Given the description of an element on the screen output the (x, y) to click on. 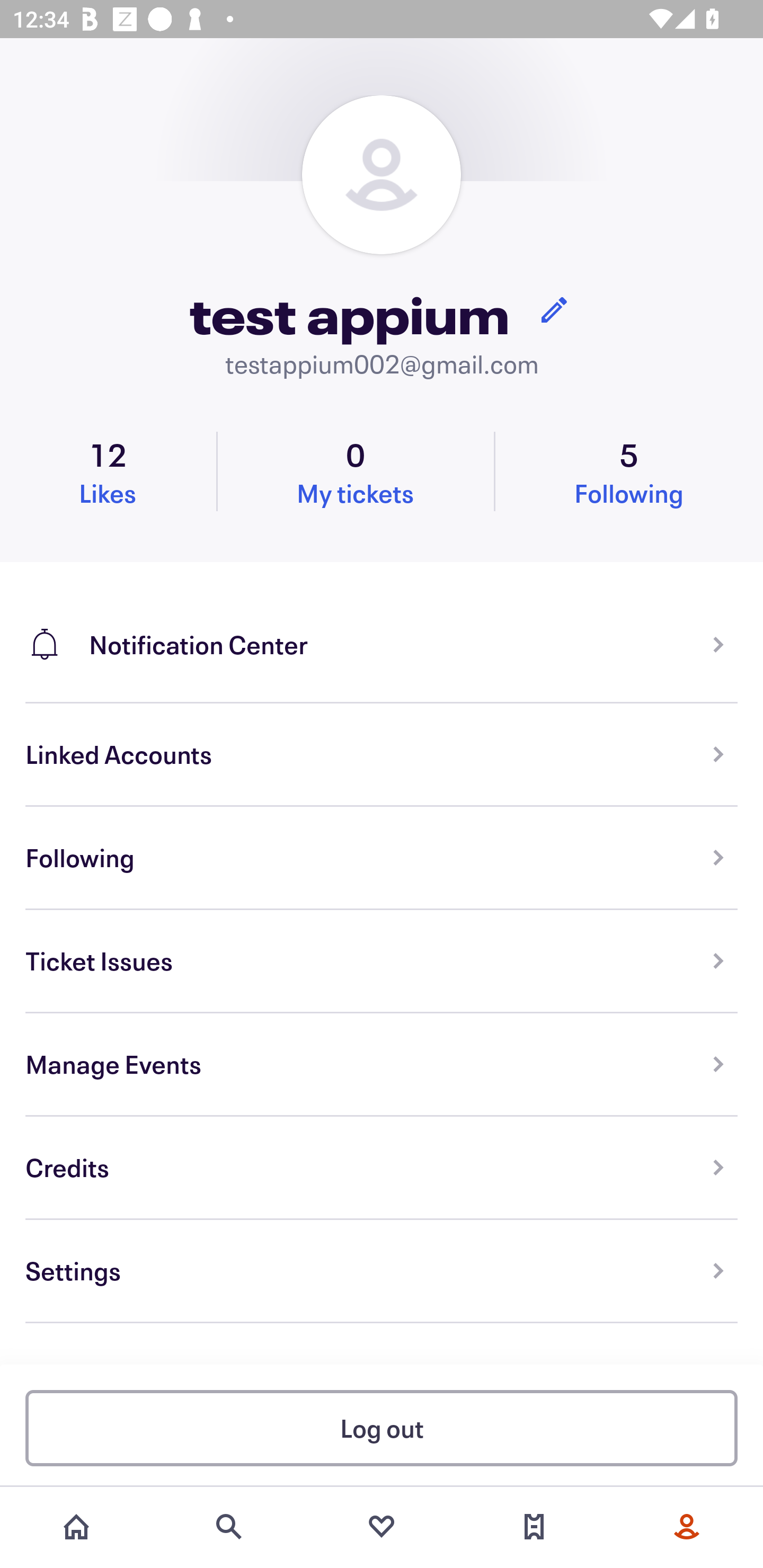
test appium testappium002@gmail.com (381, 238)
12 Likes (107, 470)
0 My tickets (355, 470)
5 Following (629, 470)
Notification Center (381, 632)
Linked Accounts (381, 755)
Following (381, 858)
Ticket Issues (381, 960)
Manage Events (381, 1064)
Credits (381, 1167)
Settings (381, 1271)
Log out (381, 1427)
Home (76, 1526)
Search events (228, 1526)
Favorites (381, 1526)
Tickets (533, 1526)
More (686, 1526)
